Given the description of an element on the screen output the (x, y) to click on. 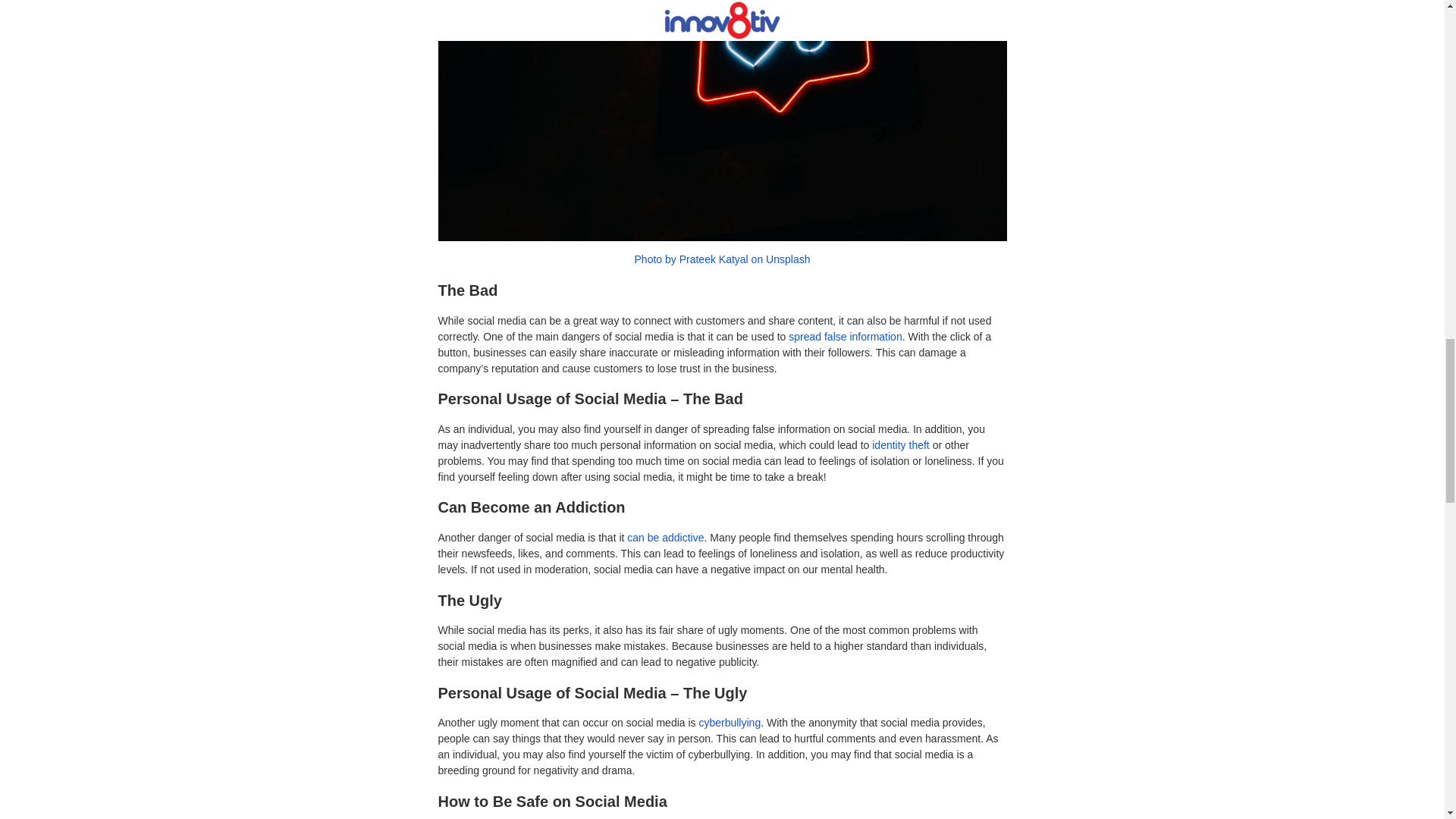
Photo by Prateek Katyal on Unsplash (722, 259)
can be addictive (665, 537)
cyberbullying (729, 722)
spread false information (845, 336)
identity theft (901, 444)
